Given the description of an element on the screen output the (x, y) to click on. 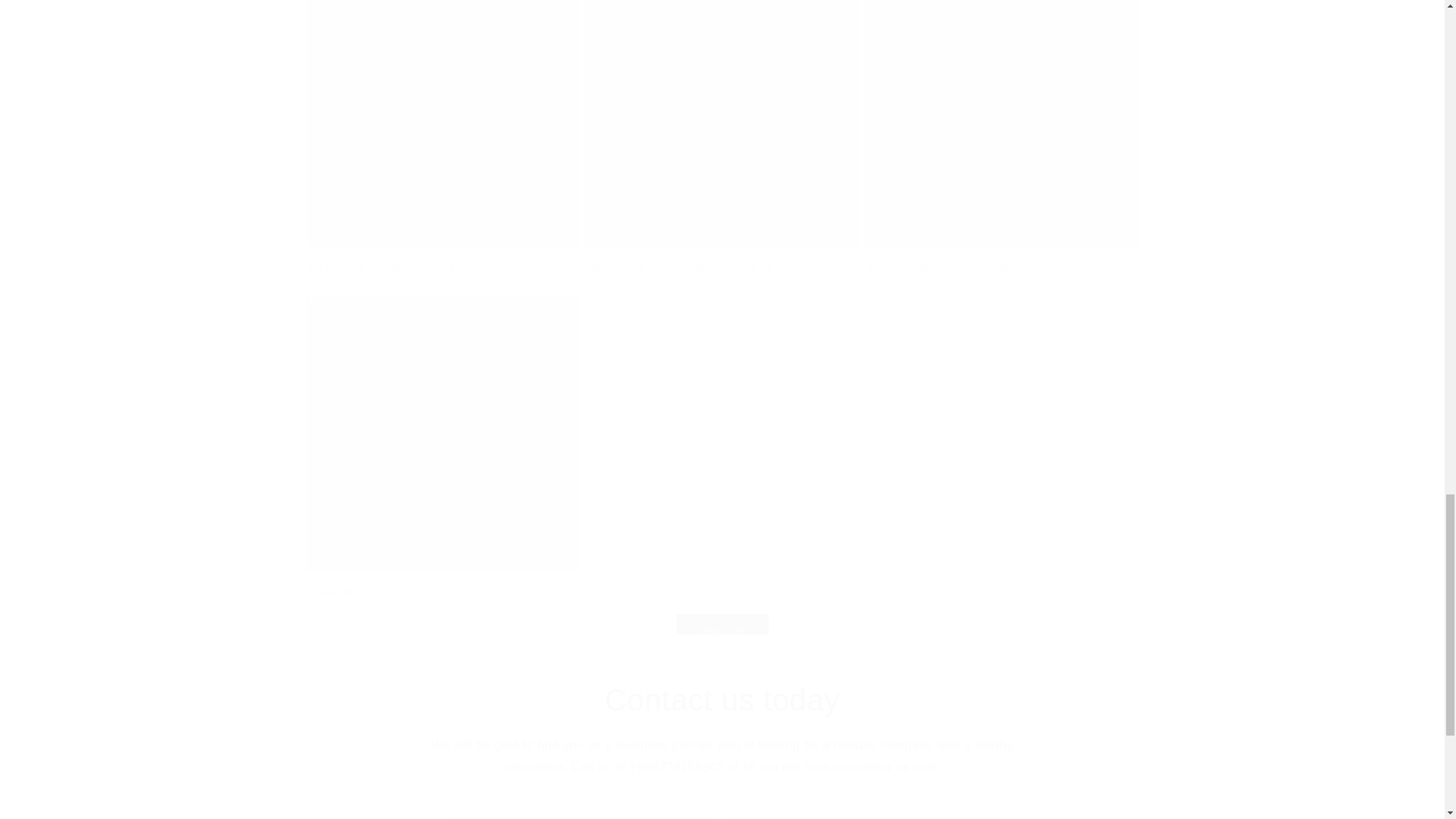
Your collection's name (1001, 145)
Women's Sheepskin Vests (722, 145)
View all (721, 632)
All Men's Sheepskin Products (441, 145)
Contact us today (721, 699)
